Given the description of an element on the screen output the (x, y) to click on. 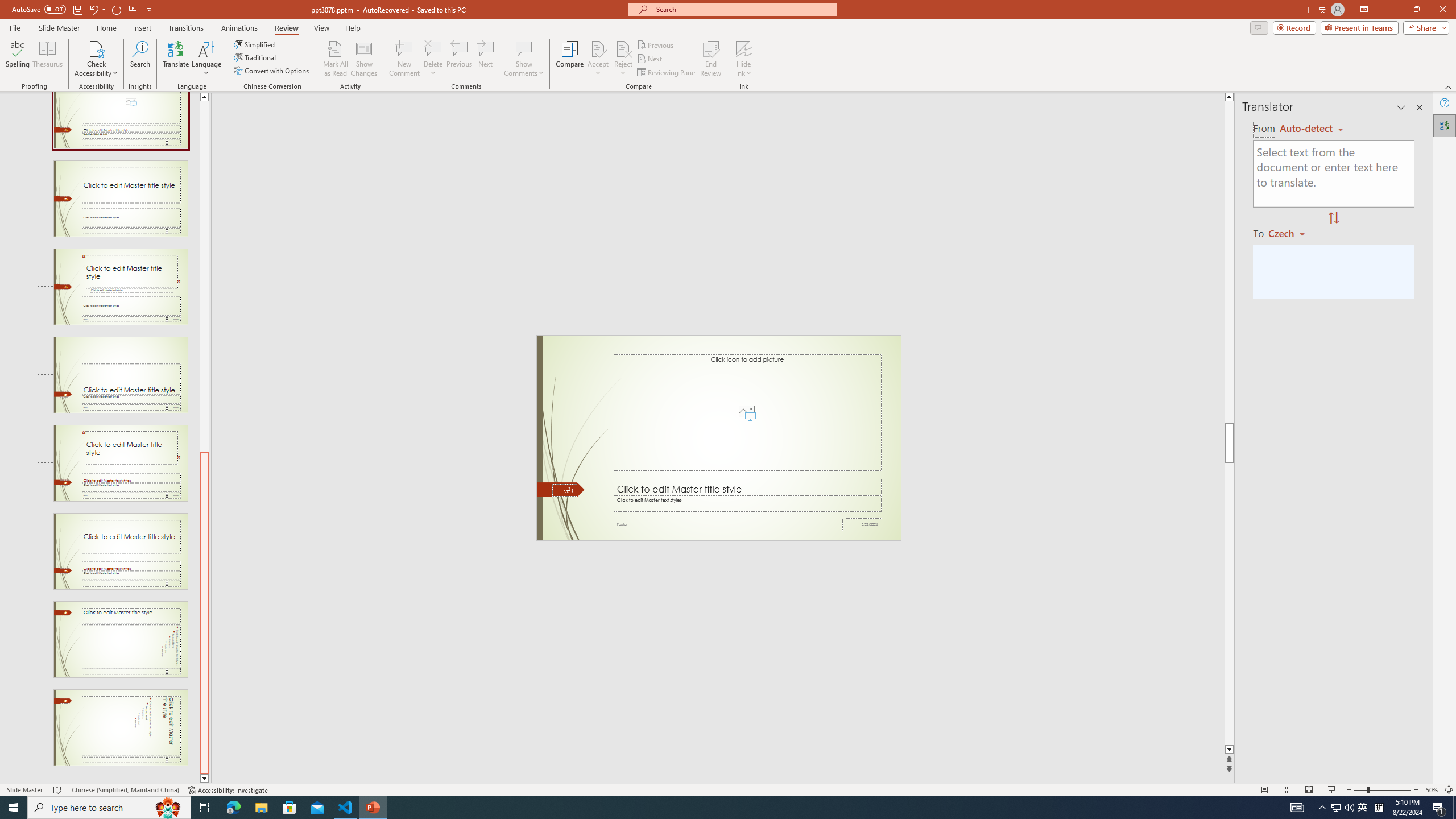
Show Changes (363, 58)
TextBox (746, 503)
Convert with Options... (272, 69)
Freeform 11 (561, 489)
Next (649, 58)
Slide Picture with Caption Layout: used by no slides (120, 119)
